Given the description of an element on the screen output the (x, y) to click on. 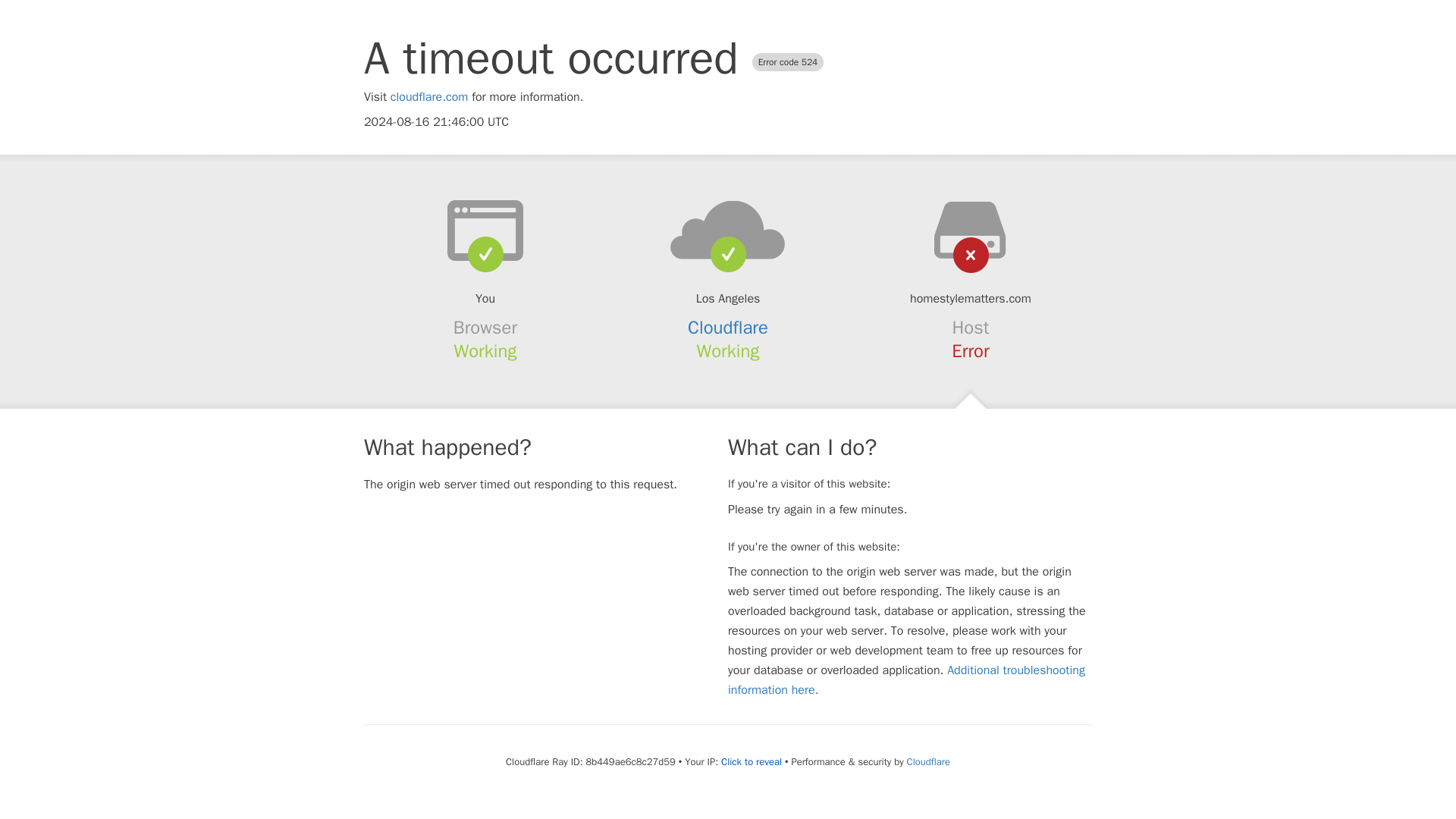
cloudflare.com (429, 96)
Additional troubleshooting information here. (906, 679)
Click to reveal (750, 762)
Cloudflare (928, 761)
Cloudflare (727, 327)
